Given the description of an element on the screen output the (x, y) to click on. 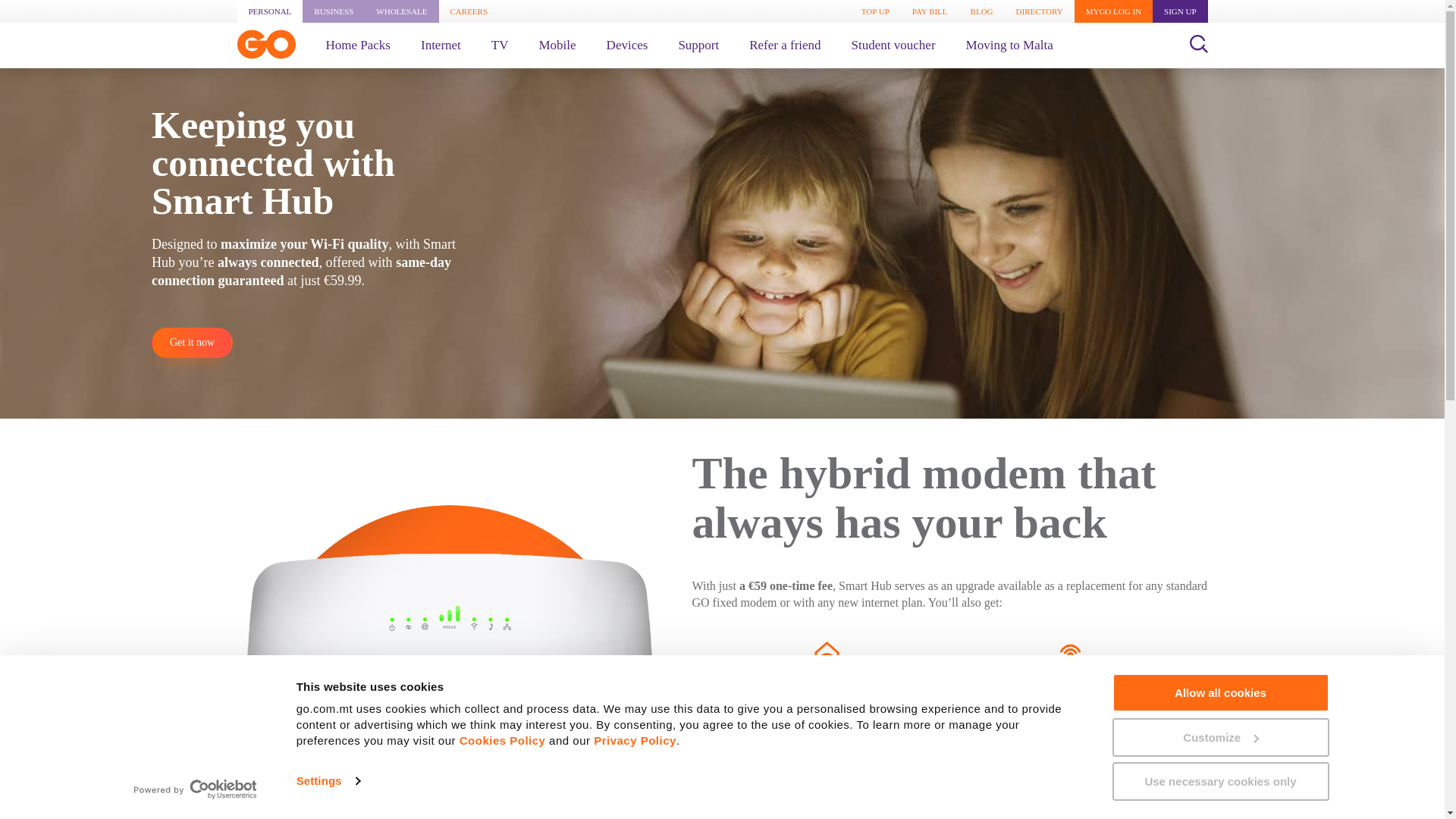
Privacy Policy (635, 739)
Settings (328, 780)
Cookies Policy (503, 739)
Privacy Policy (635, 739)
Cookies Policy (503, 739)
